Given the description of an element on the screen output the (x, y) to click on. 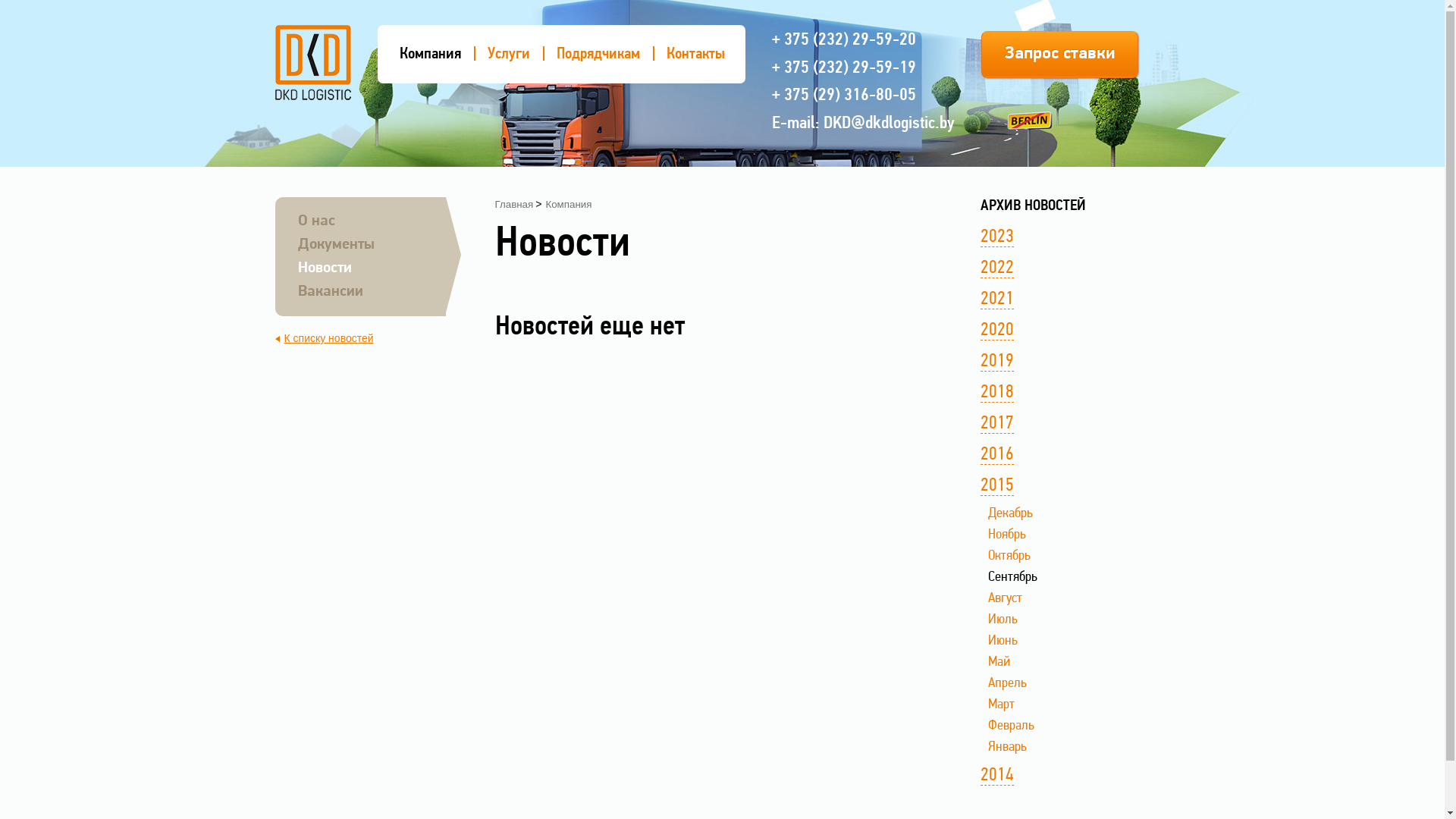
2016 Element type: text (996, 454)
2014 Element type: text (996, 775)
2022 Element type: text (996, 268)
2023 Element type: text (996, 237)
2017 Element type: text (996, 423)
2021 Element type: text (996, 299)
2019 Element type: text (996, 361)
2015 Element type: text (996, 485)
2018 Element type: text (996, 392)
2020 Element type: text (996, 330)
